Given the description of an element on the screen output the (x, y) to click on. 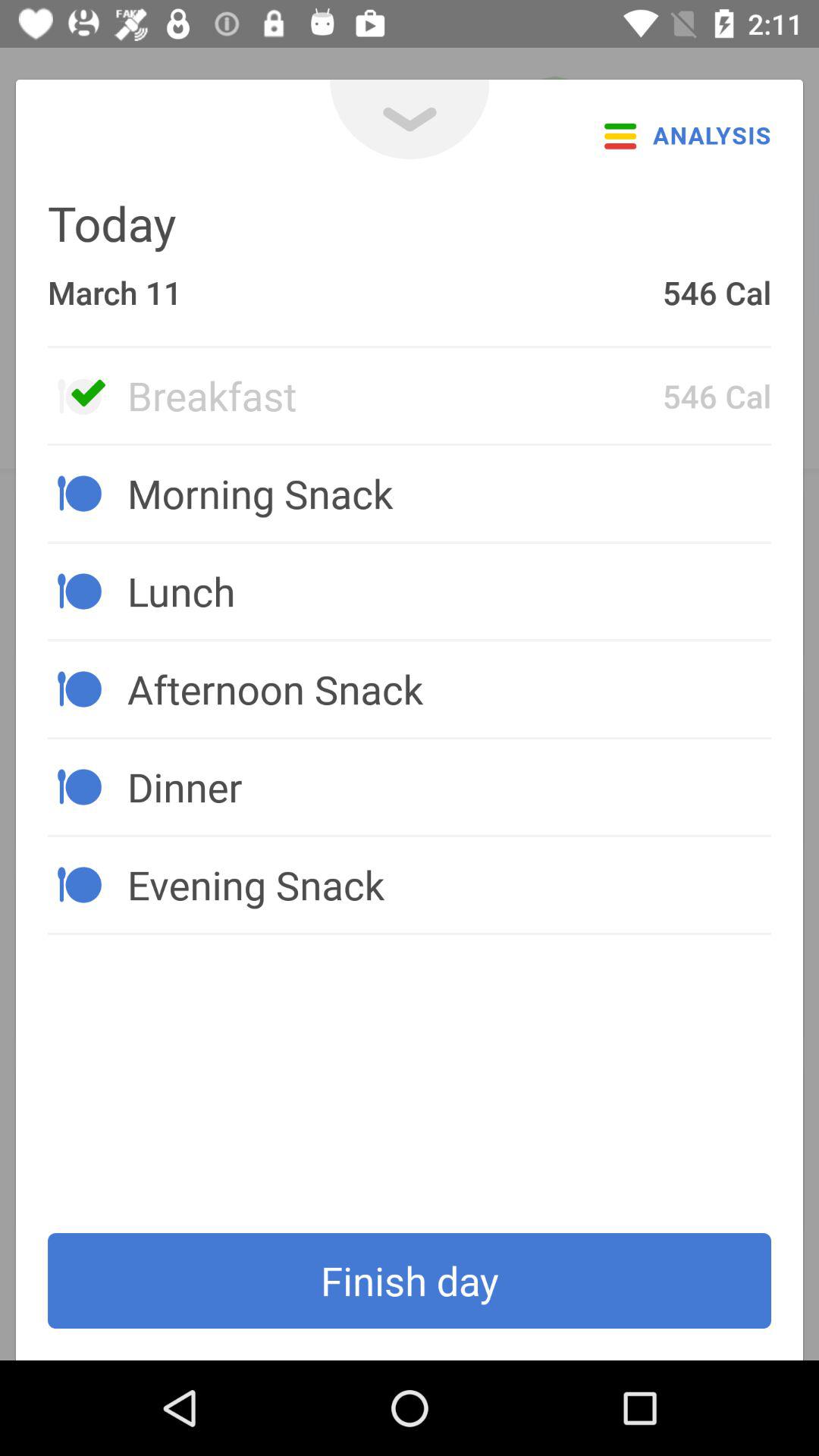
press item above afternoon snack item (449, 590)
